Given the description of an element on the screen output the (x, y) to click on. 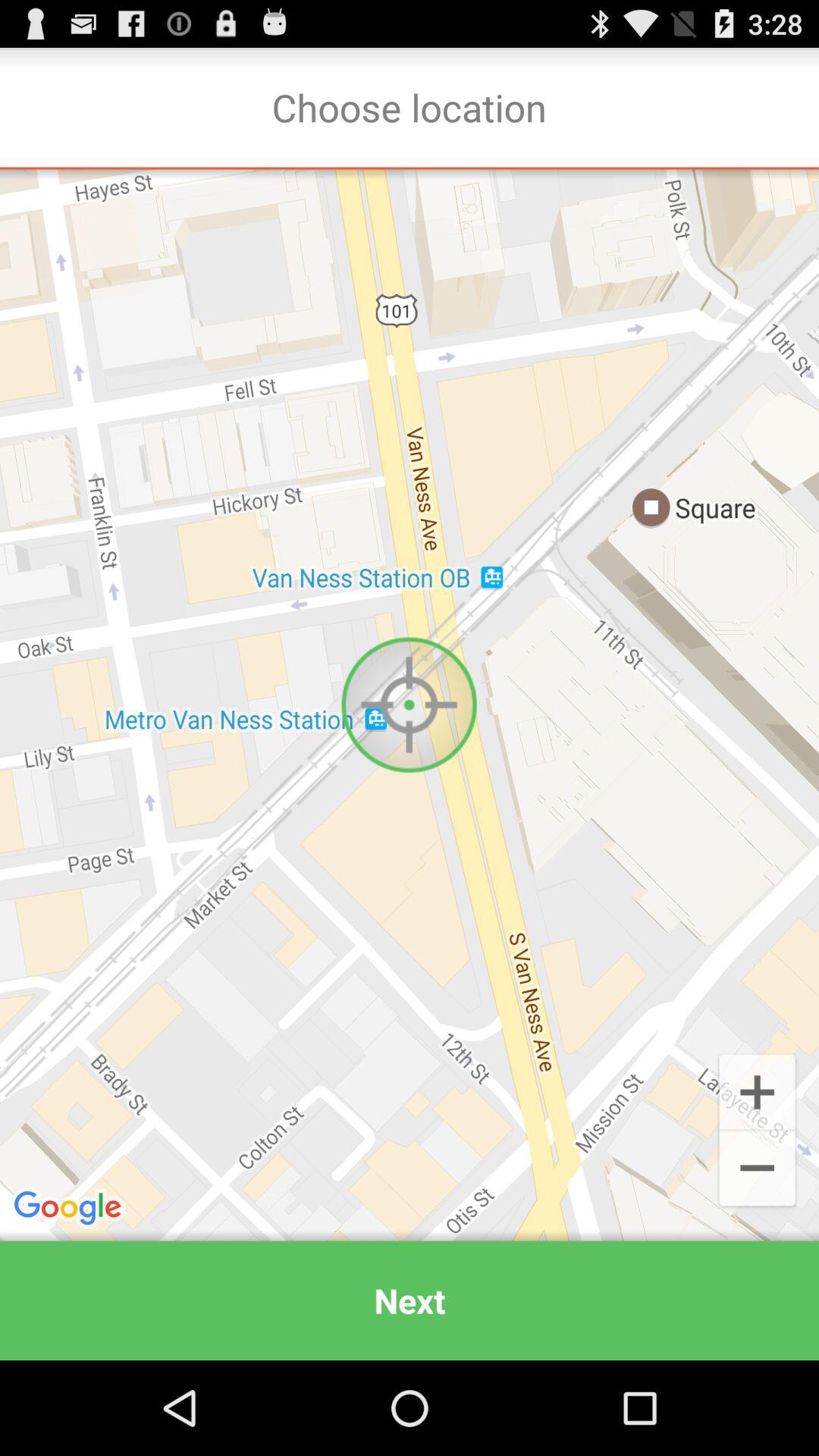
launch item above the next icon (409, 705)
